Given the description of an element on the screen output the (x, y) to click on. 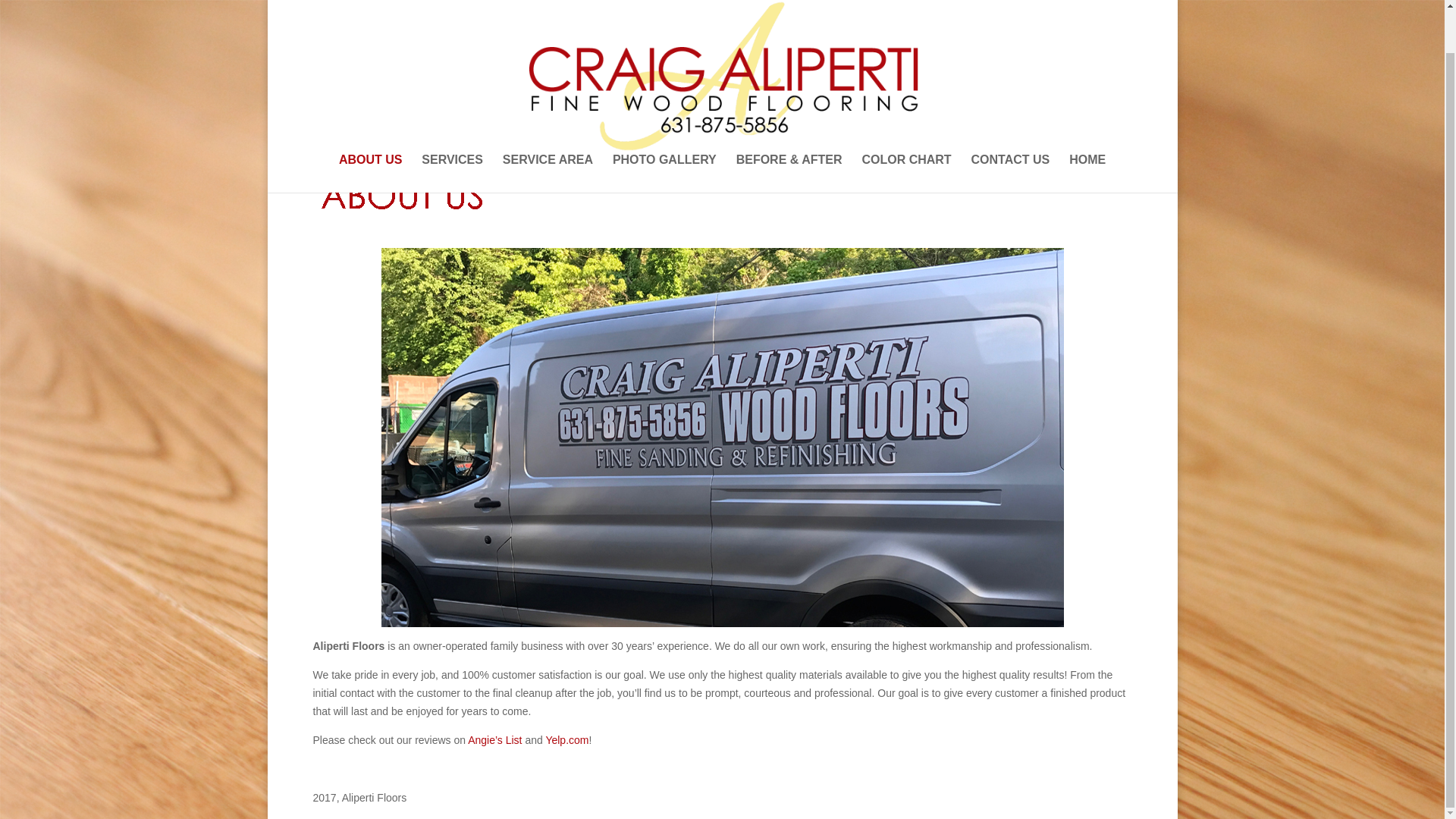
SERVICE AREA (547, 127)
PHOTO GALLERY (664, 127)
SERVICES (452, 127)
COLOR CHART (905, 127)
CONTACT US (1010, 127)
Yelp.com (566, 739)
ABOUT US (371, 127)
HOME (1086, 127)
